Given the description of an element on the screen output the (x, y) to click on. 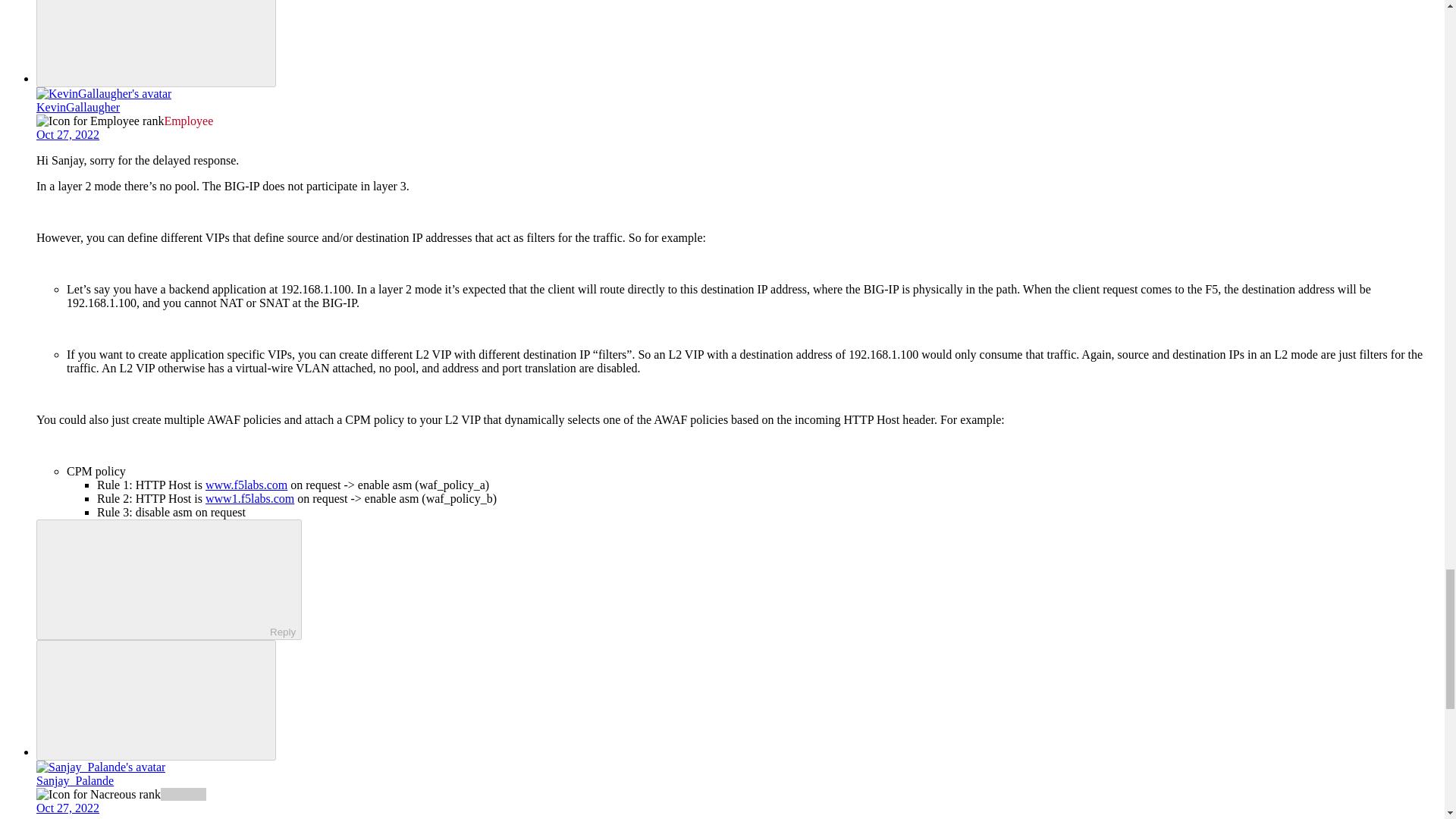
October 27, 2022 at 8:05 PM (67, 133)
Reply (155, 578)
October 27, 2022 at 9:04 PM (67, 807)
